Given the description of an element on the screen output the (x, y) to click on. 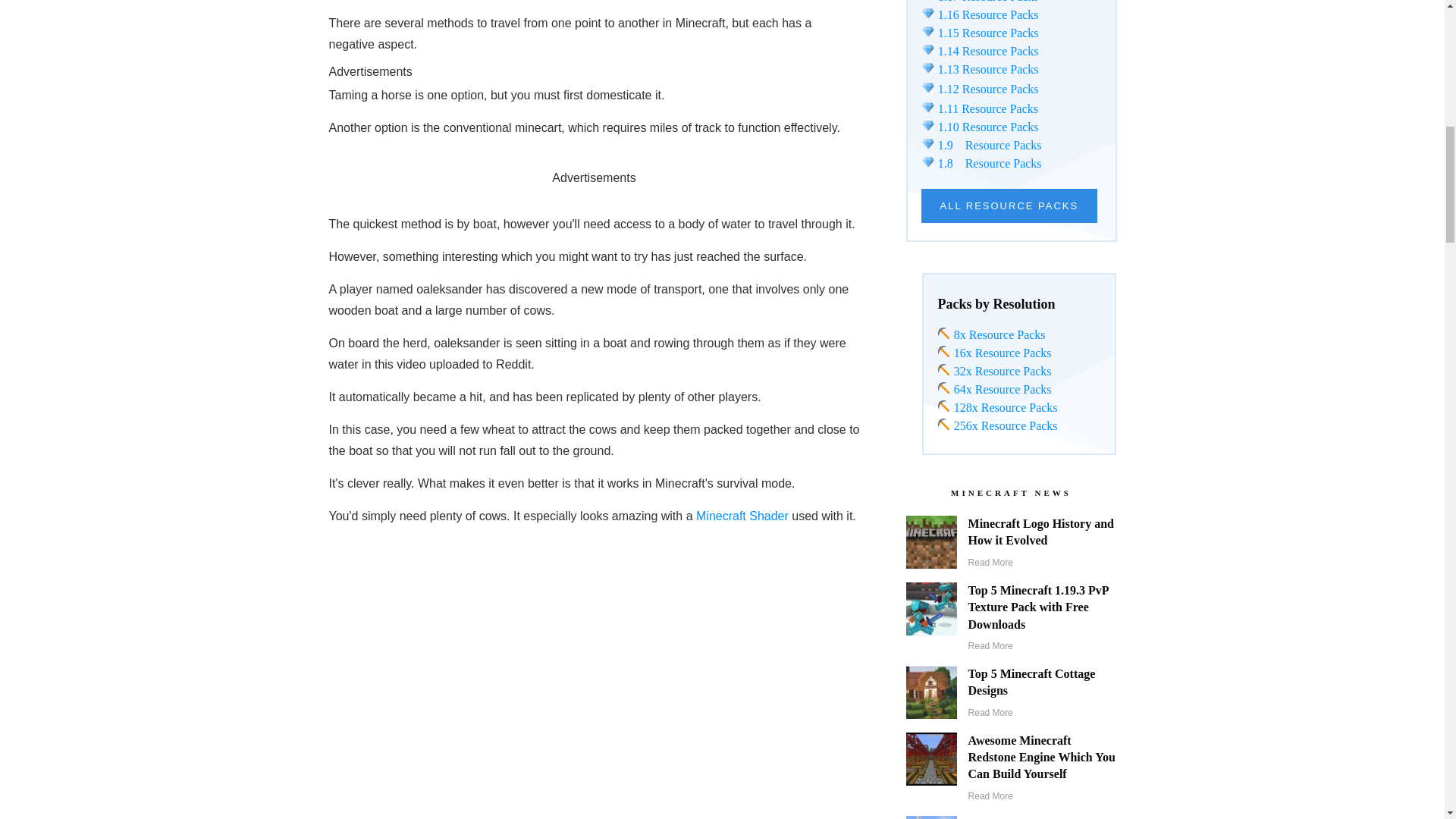
Top 5 Minecraft Cottage Designs (1032, 681)
Minecraft Logo History and How it Evolved (1040, 531)
Useful Minecraft Flowers List and Where to Find Them (1034, 818)
Top 5 Minecraft 1.19.3 PvP Texture Pack with Free Downloads (1038, 606)
